Given the description of an element on the screen output the (x, y) to click on. 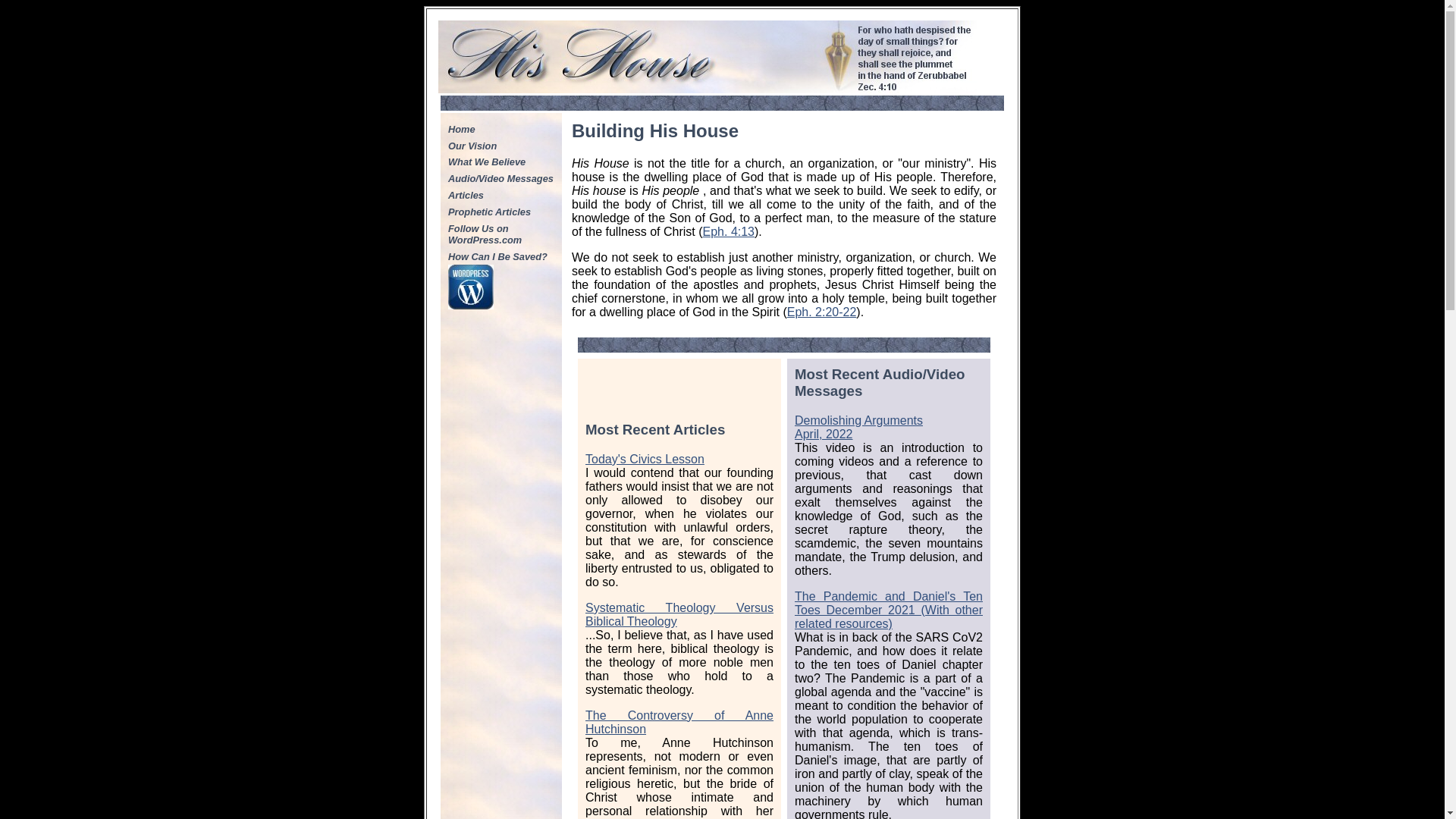
Today's Civics Lesson (644, 459)
Eph. 2:20-22 (822, 311)
Follow Us on WordPress.com (501, 234)
How Can I Be Saved? (501, 256)
What We Believe (501, 161)
Home (501, 128)
Articles (501, 194)
Our Vision (501, 145)
The Controversy of Anne Hutchinson (679, 722)
Prophetic Articles (858, 427)
Eph. 4:13 (501, 211)
Systematic Theology Versus Biblical Theology (729, 231)
